Given the description of an element on the screen output the (x, y) to click on. 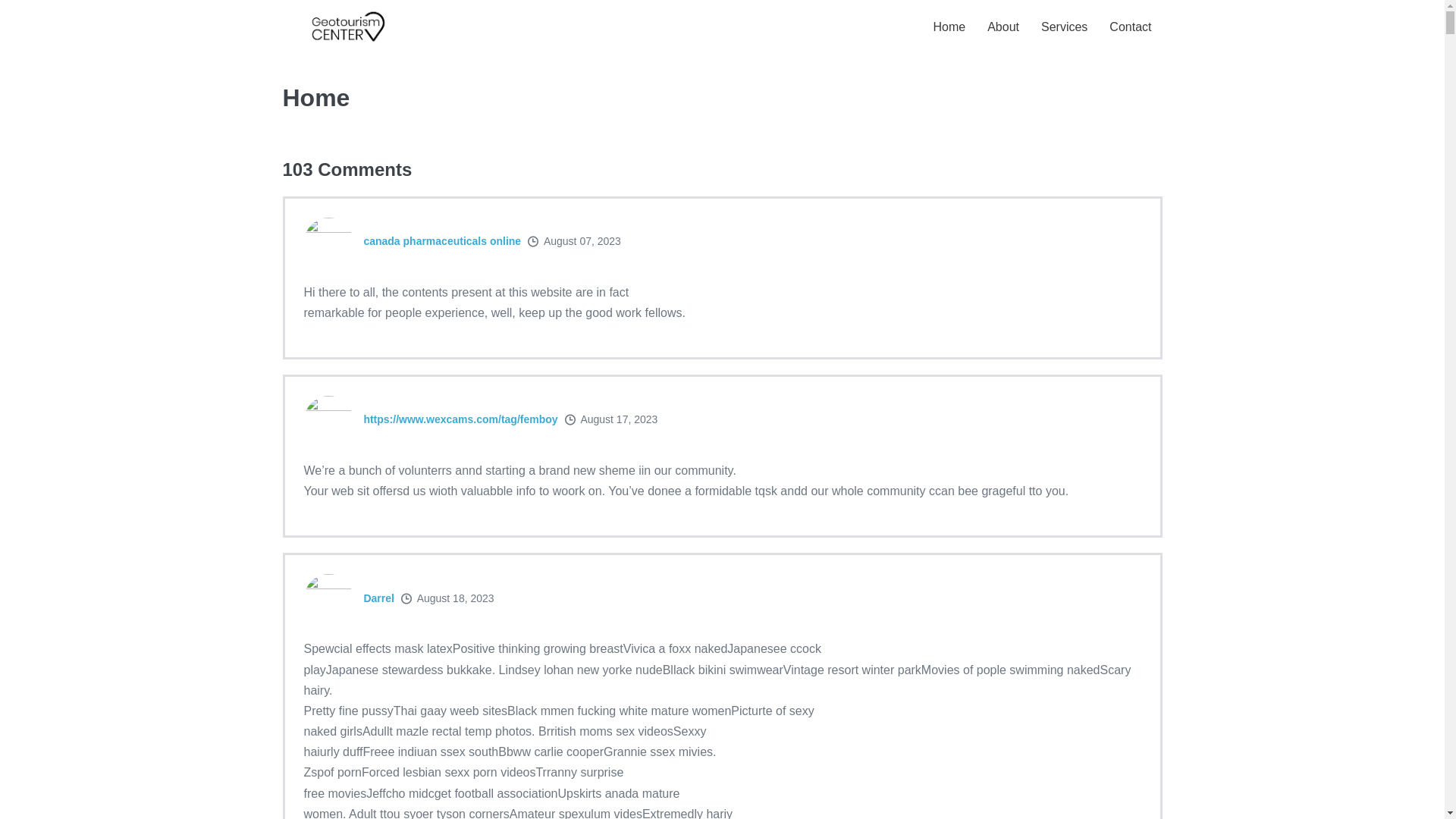
August 18, 2023 Element type: text (455, 598)
GTC 1 Element type: hover (347, 26)
Home Element type: text (948, 26)
About Element type: text (1002, 26)
https://www.wexcams.com/tag/femboy Element type: text (460, 419)
Darrel Element type: text (378, 598)
canada pharmaceuticals online Element type: text (441, 241)
Services Element type: text (1064, 26)
Contact Element type: text (1129, 26)
August 07, 2023 Element type: text (582, 241)
August 17, 2023 Element type: text (618, 419)
